Given the description of an element on the screen output the (x, y) to click on. 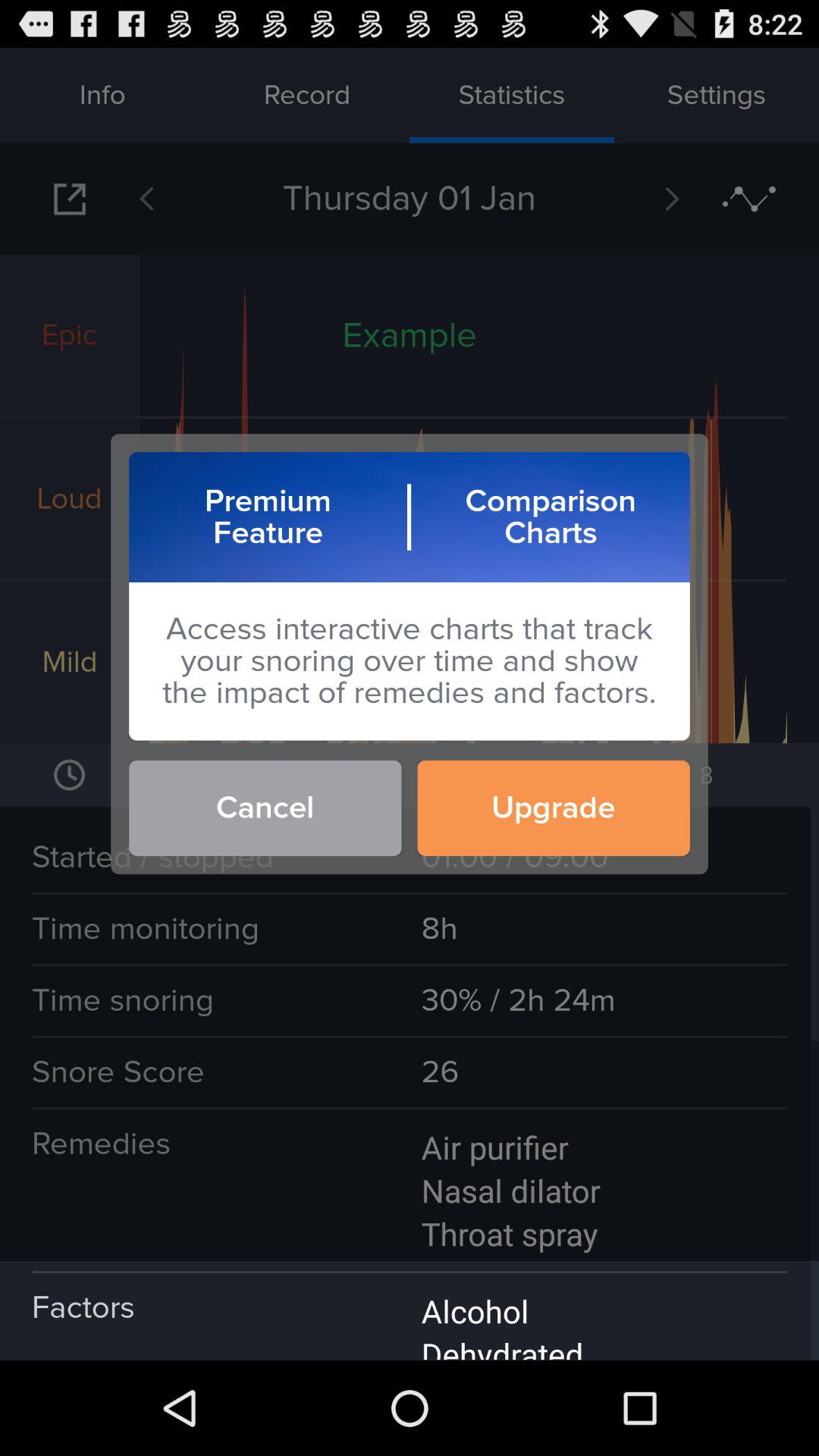
choose the icon next to the upgrade item (265, 807)
